Given the description of an element on the screen output the (x, y) to click on. 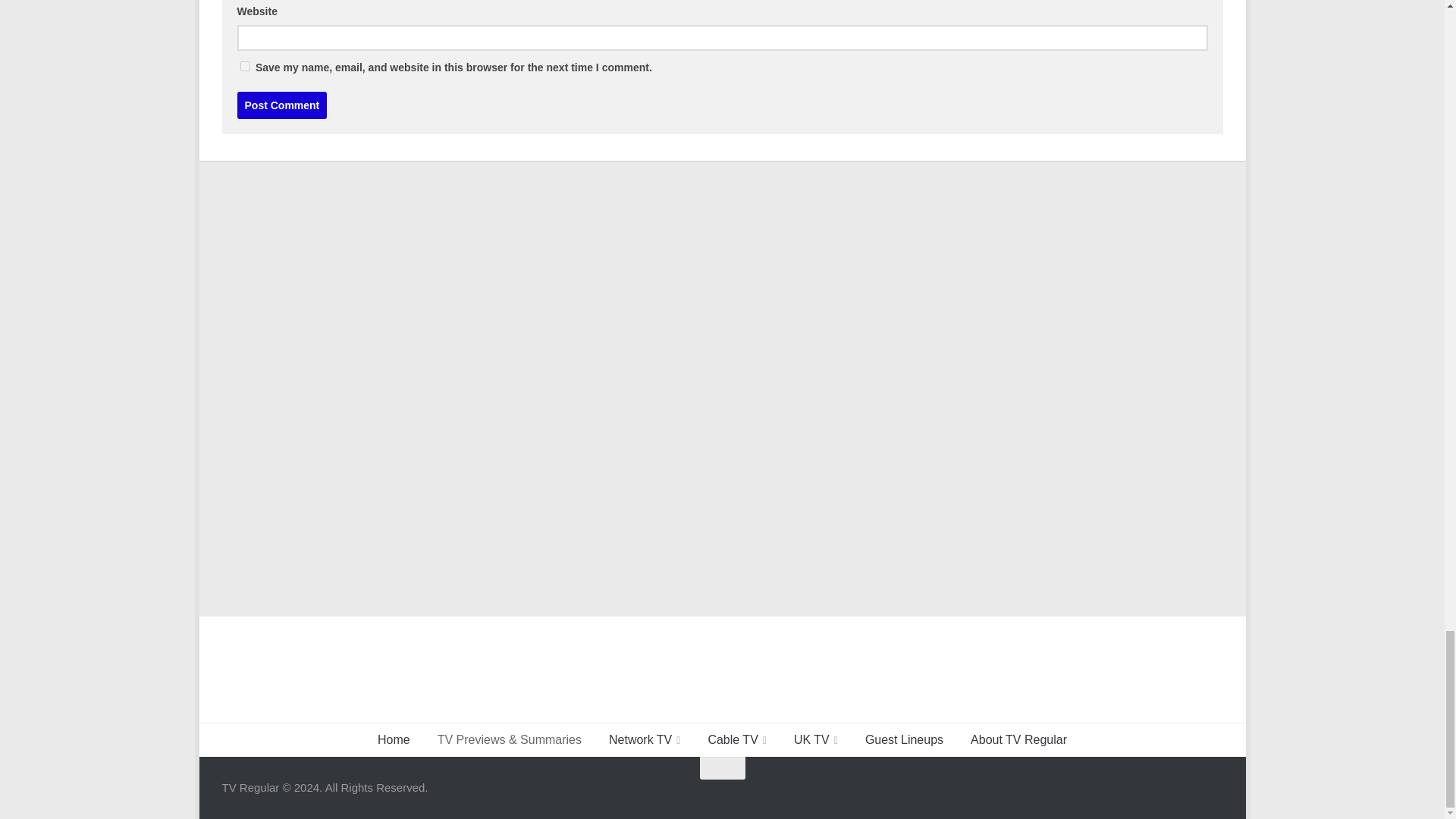
yes (244, 66)
Post Comment (280, 104)
